Given the description of an element on the screen output the (x, y) to click on. 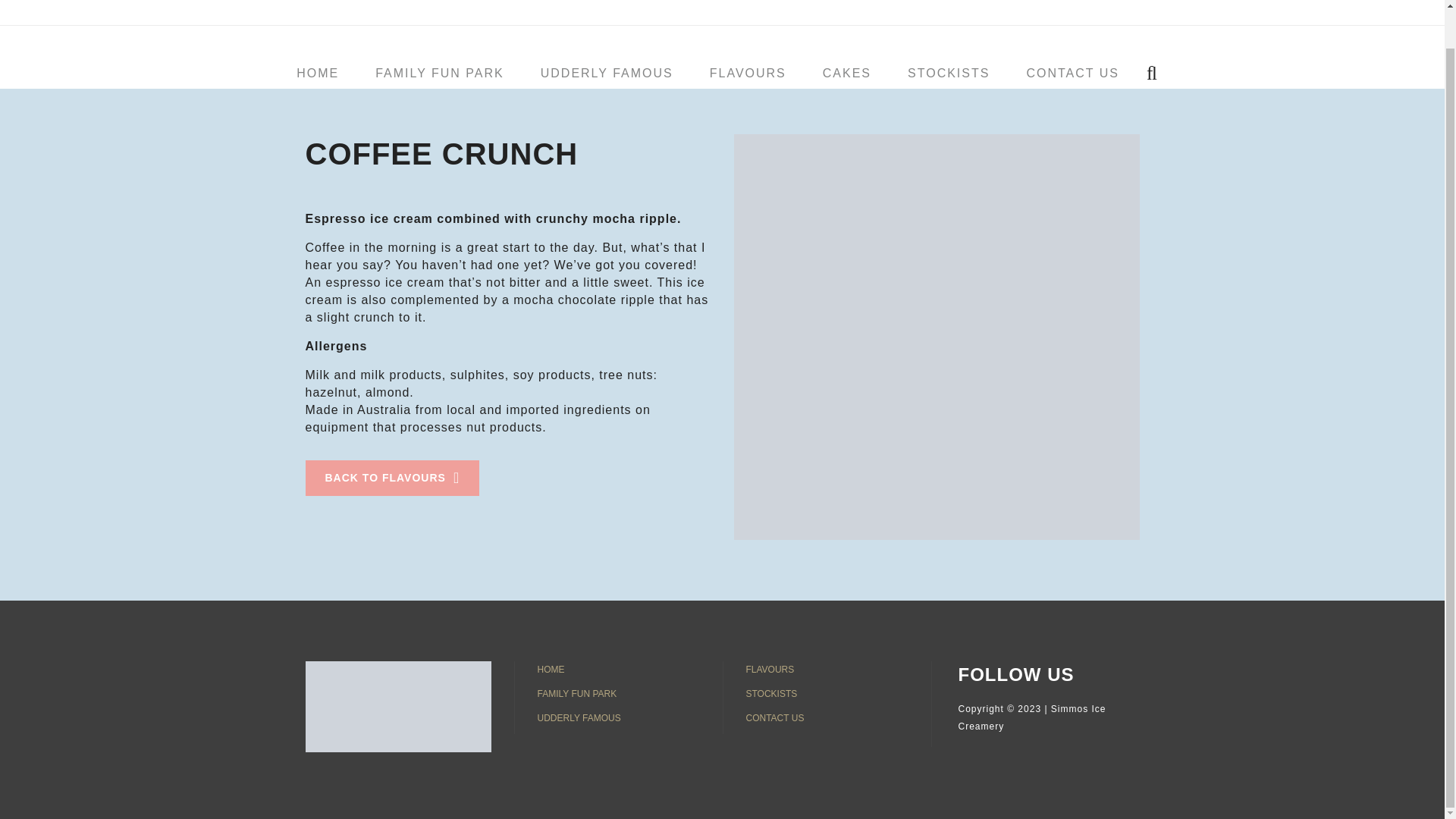
CONTACT US (1072, 33)
HOME (317, 33)
HOME (617, 669)
UDDERLY FAMOUS (606, 33)
CAKES (847, 33)
STOCKISTS (948, 33)
CONTACT US (826, 718)
BACK TO FLAVOURS (391, 478)
FLAVOURS (826, 669)
STOCKISTS (826, 693)
FLAVOURS (748, 33)
FAMILY FUN PARK (617, 693)
UDDERLY FAMOUS (617, 718)
FAMILY FUN PARK (439, 33)
